Given the description of an element on the screen output the (x, y) to click on. 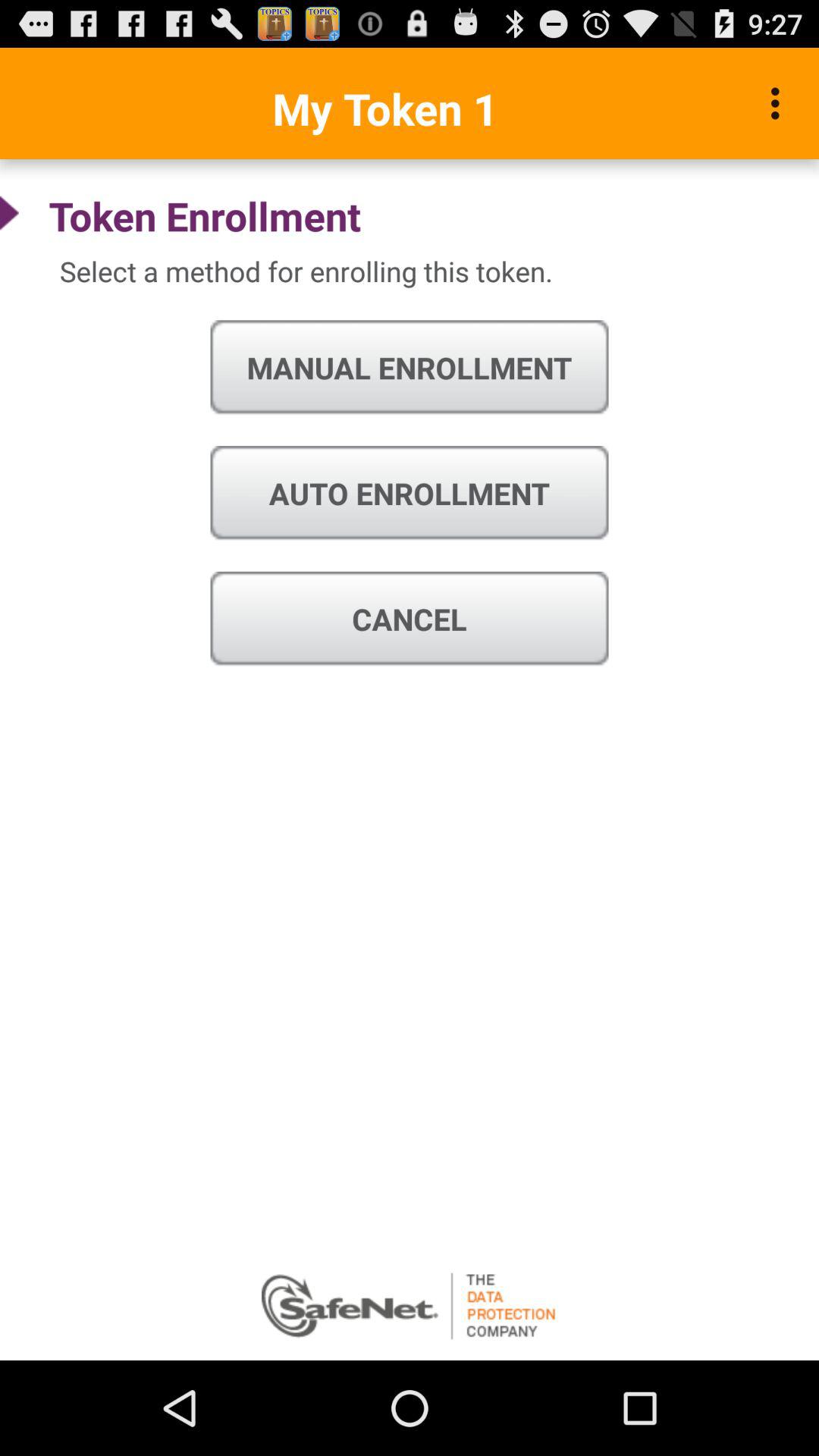
open the auto enrollment (409, 493)
